Given the description of an element on the screen output the (x, y) to click on. 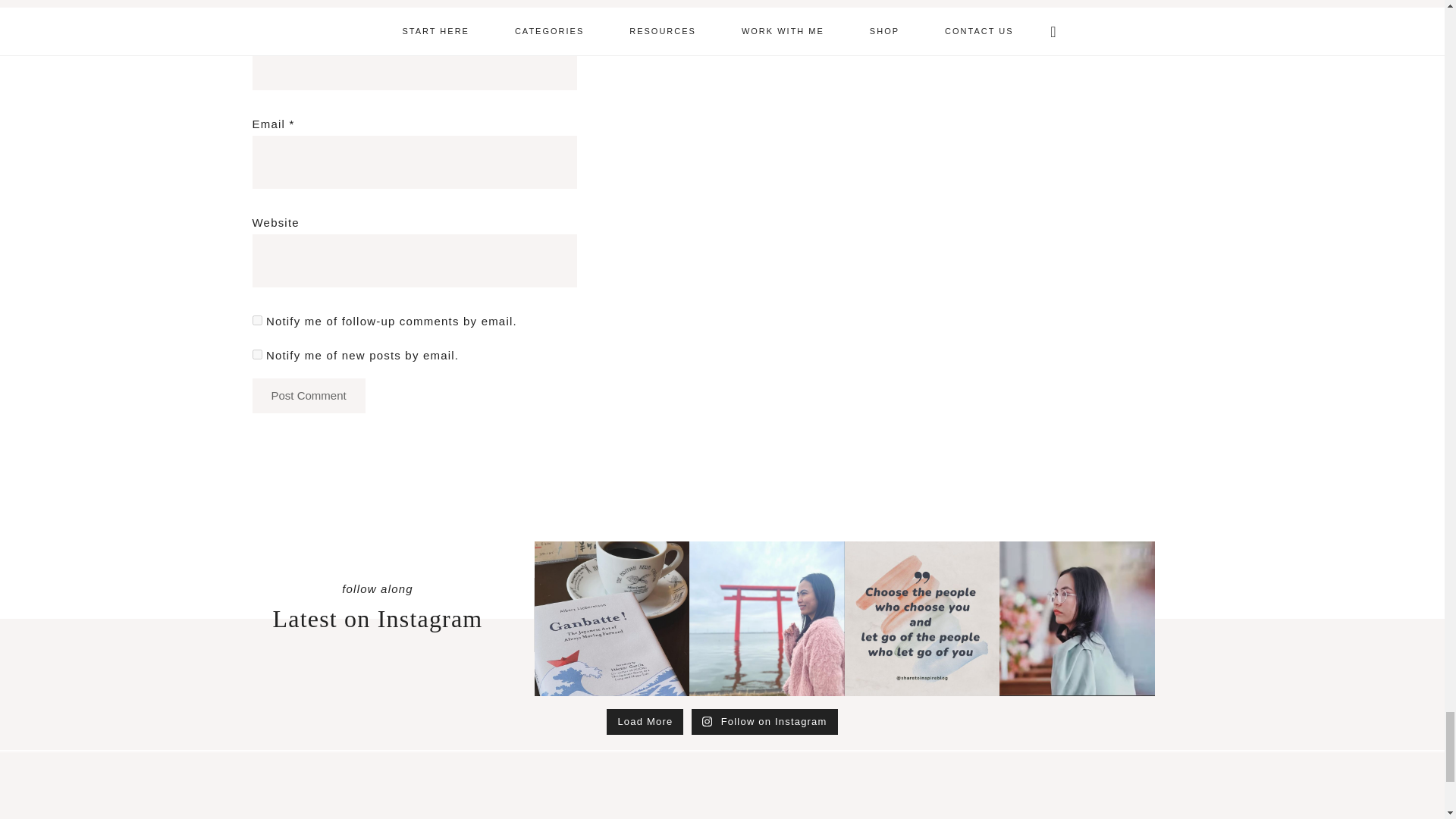
Post Comment (308, 395)
subscribe (256, 320)
subscribe (256, 354)
